Given the description of an element on the screen output the (x, y) to click on. 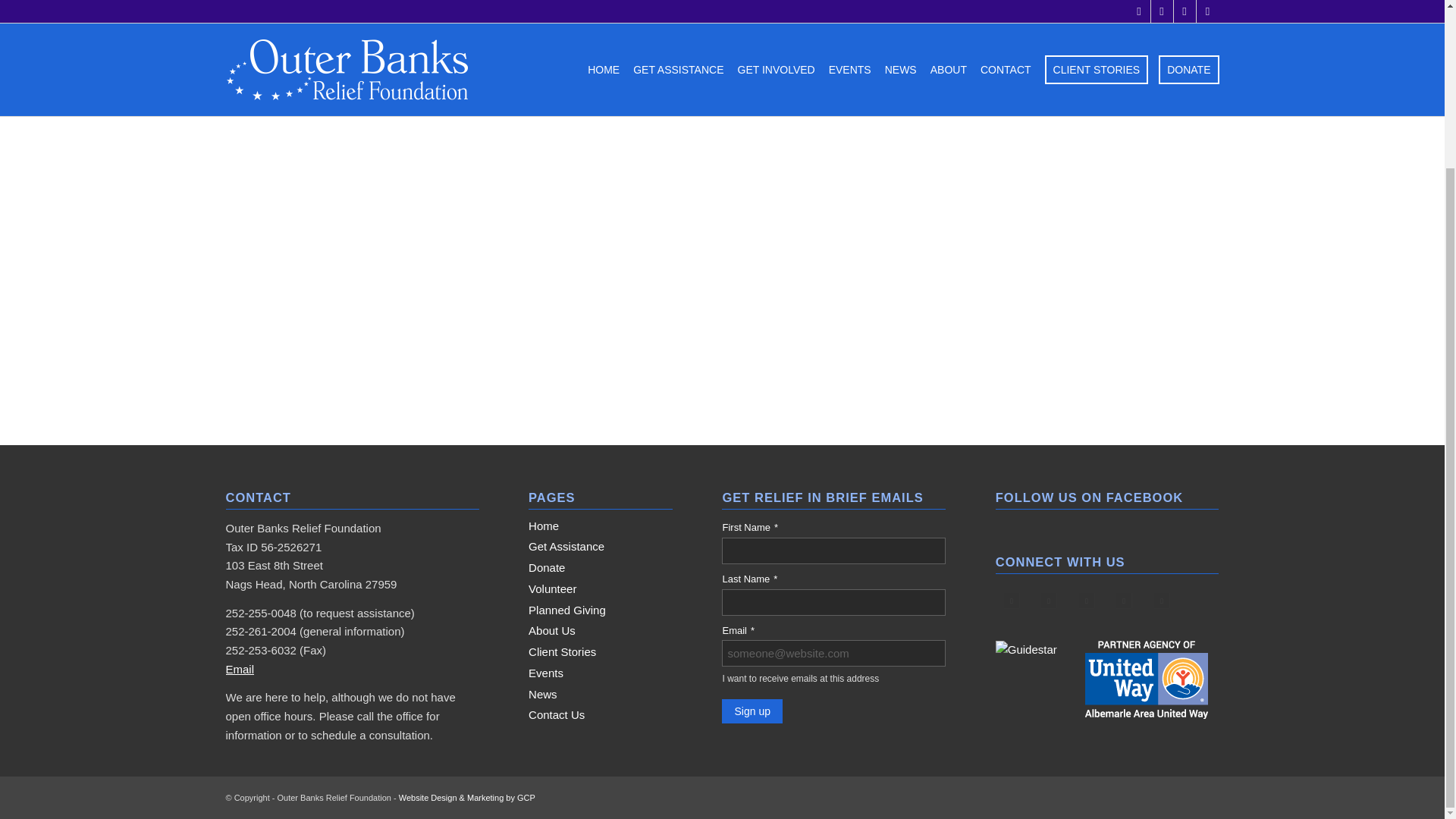
Client Stories (600, 652)
Donate (600, 568)
Home (600, 526)
Get Assistance (600, 547)
Volunteer (600, 588)
About Us (600, 631)
Sign up (751, 711)
Planned Giving (600, 609)
Email (239, 668)
